Given the description of an element on the screen output the (x, y) to click on. 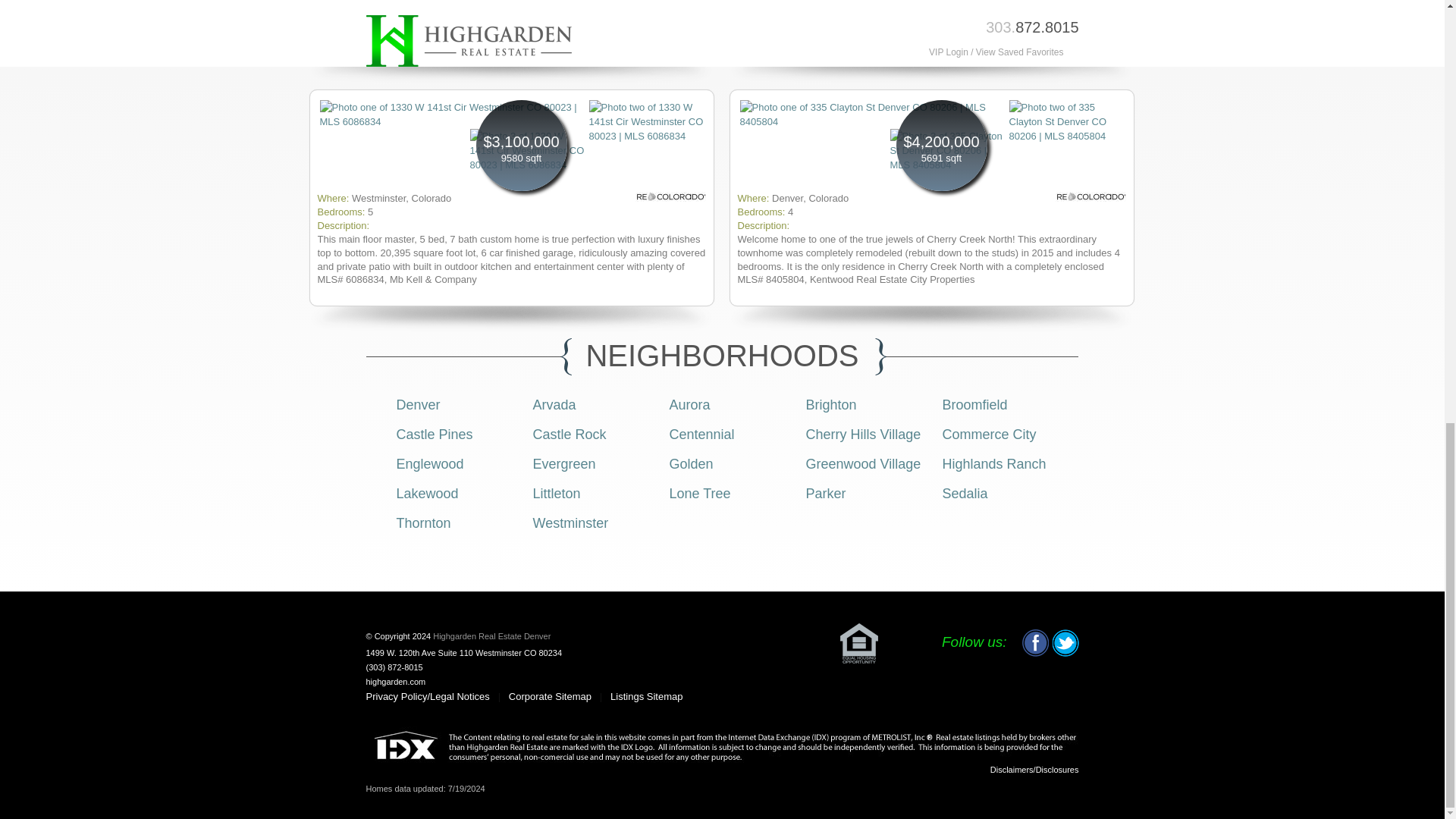
Denver (417, 404)
Aurora (689, 404)
Arvada (553, 404)
